Given the description of an element on the screen output the (x, y) to click on. 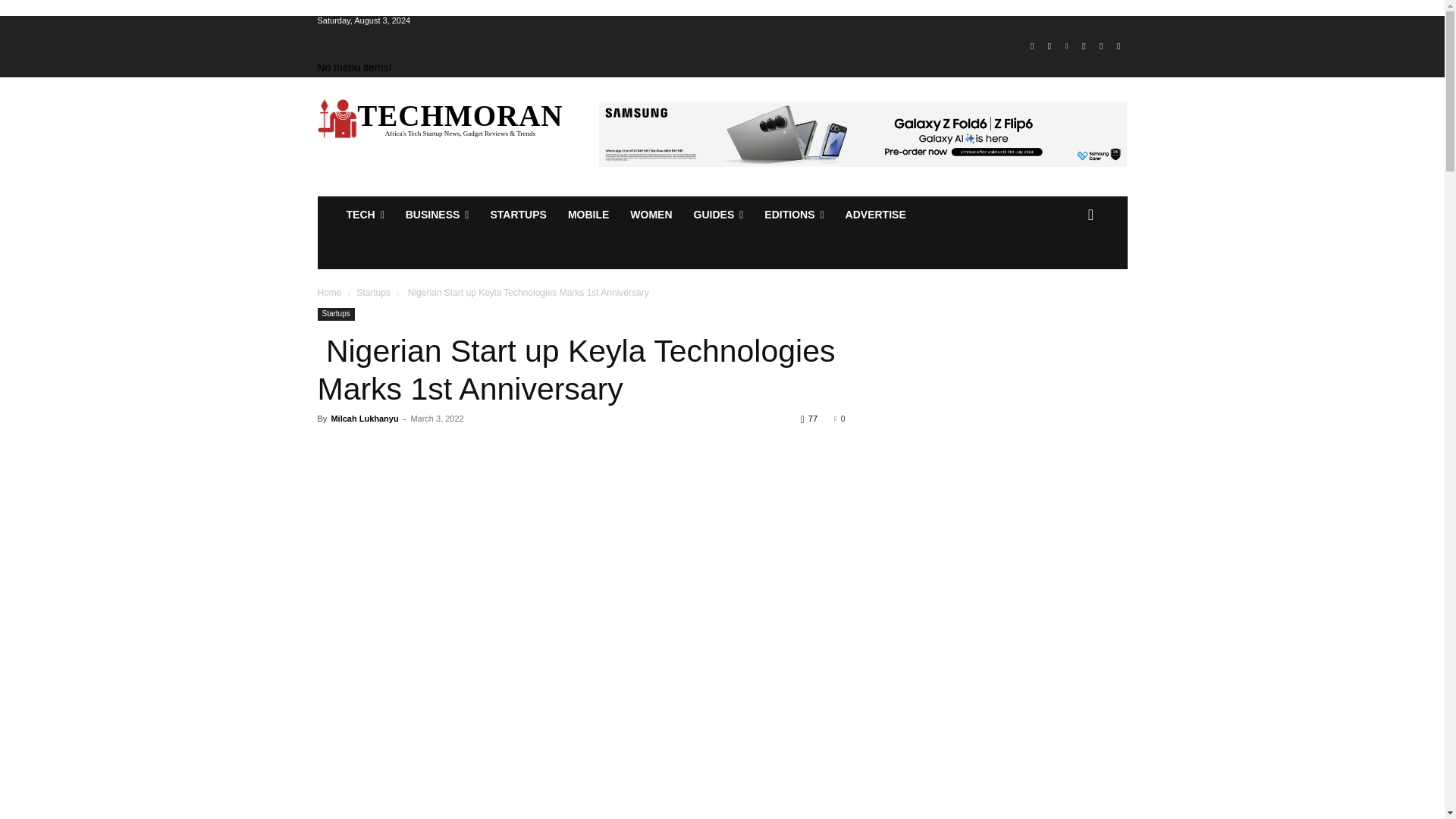
MOBILE (588, 214)
Facebook (1032, 46)
Mobile (588, 214)
View all posts in Startups (373, 292)
Youtube (1117, 46)
TECH (364, 214)
Instagram (1049, 46)
STARTUPS (517, 214)
BUSINESS (437, 214)
Twitter (1101, 46)
Linkedin (1066, 46)
Telegram (1084, 46)
WOMEN (651, 214)
GUIDES (718, 214)
